Given the description of an element on the screen output the (x, y) to click on. 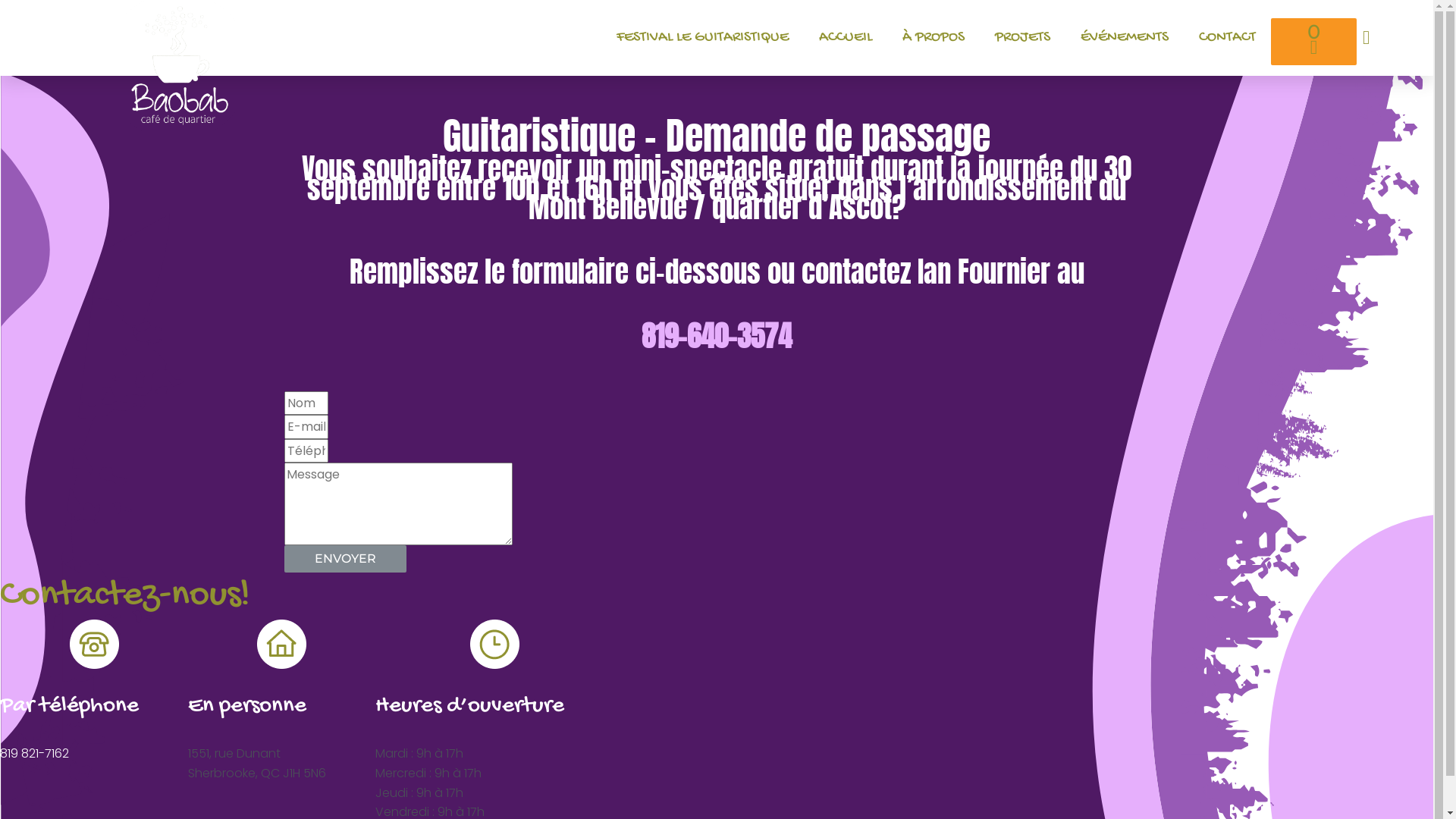
819 821-7162 Element type: text (34, 753)
0
PANIER Element type: text (1313, 41)
FESTIVAL LE GUITARISTIQUE Element type: text (702, 37)
PROJETS Element type: text (1022, 37)
ENVOYER Element type: text (345, 558)
ACCUEIL Element type: text (845, 37)
CONTACT Element type: text (1226, 37)
